Given the description of an element on the screen output the (x, y) to click on. 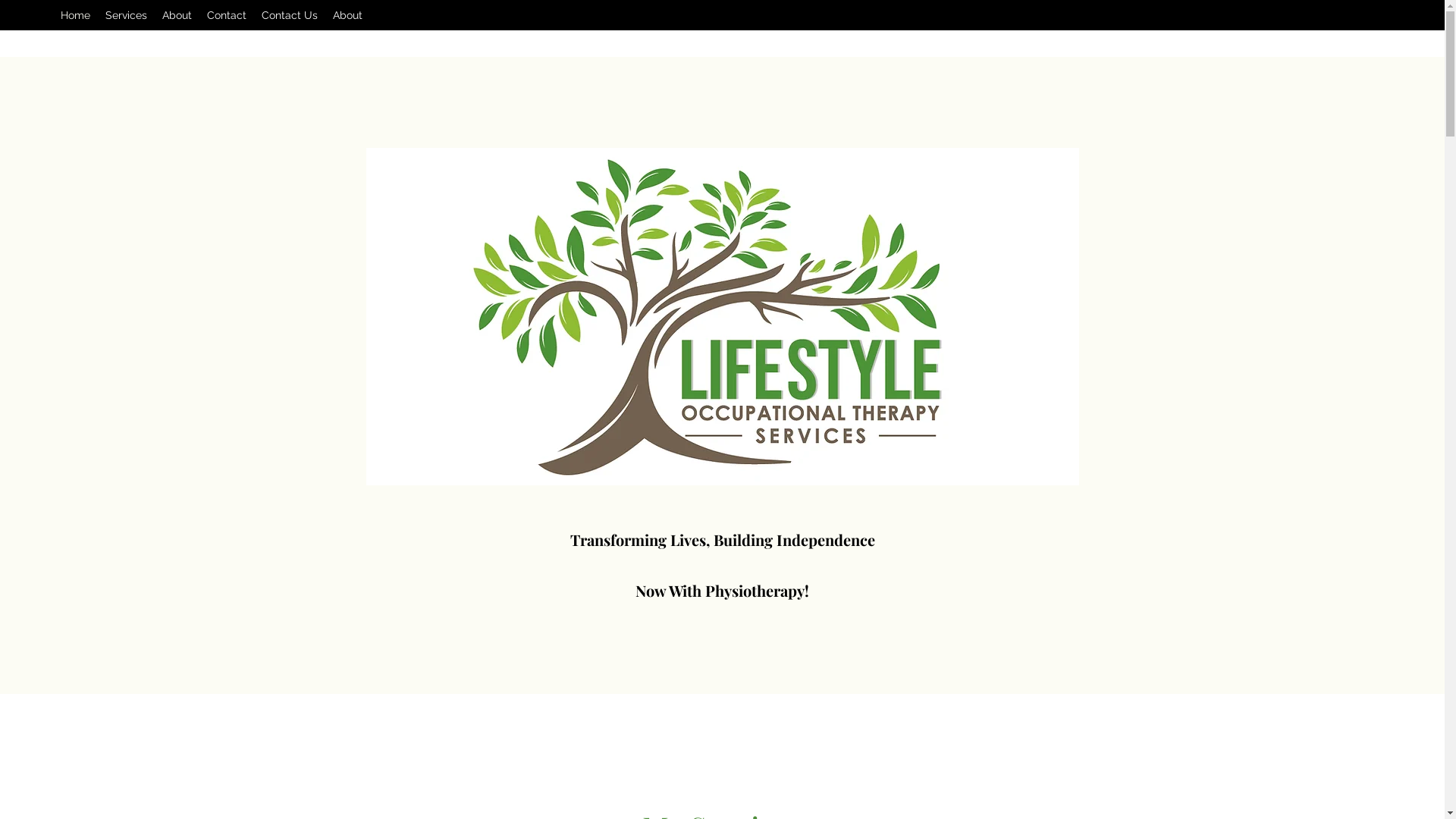
Home Element type: text (75, 14)
Services Element type: text (125, 14)
About Element type: text (347, 14)
Contact Us Element type: text (289, 14)
About Element type: text (176, 14)
Contact Element type: text (226, 14)
